Given the description of an element on the screen output the (x, y) to click on. 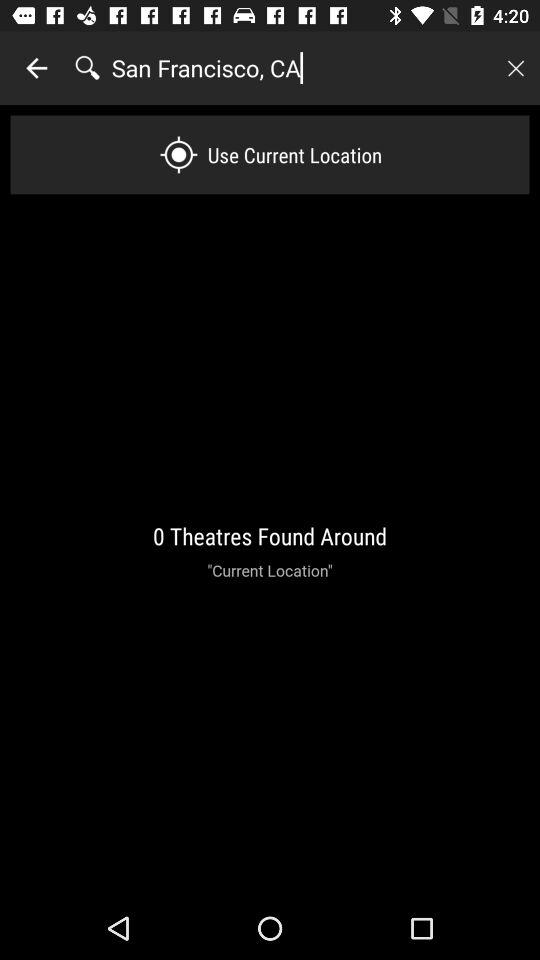
select the item to the left of the san francisco, ca (36, 68)
